Given the description of an element on the screen output the (x, y) to click on. 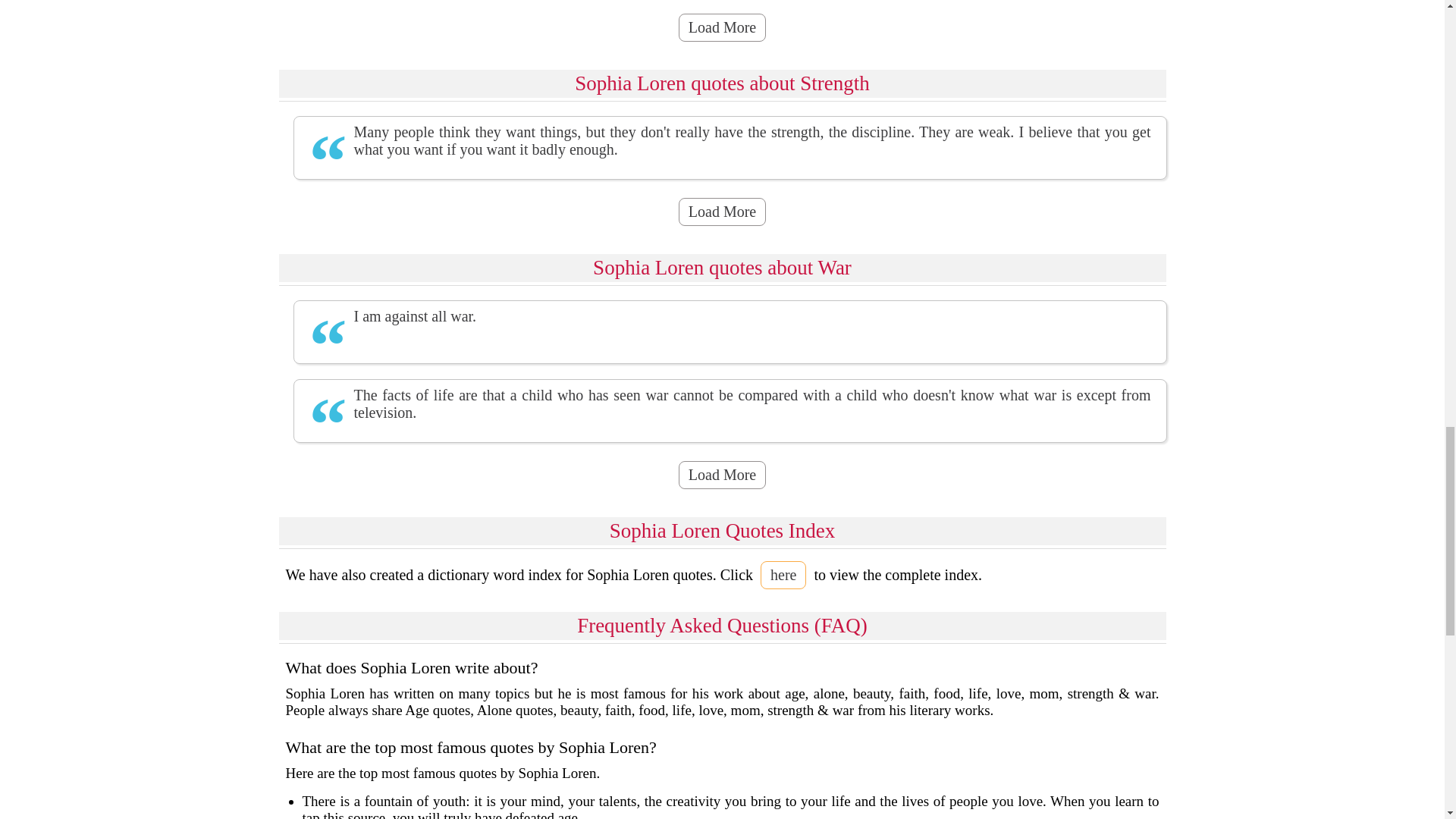
Load More (721, 474)
Load More (721, 27)
here (783, 574)
Load More (721, 212)
I am against all war. (729, 316)
